Given the description of an element on the screen output the (x, y) to click on. 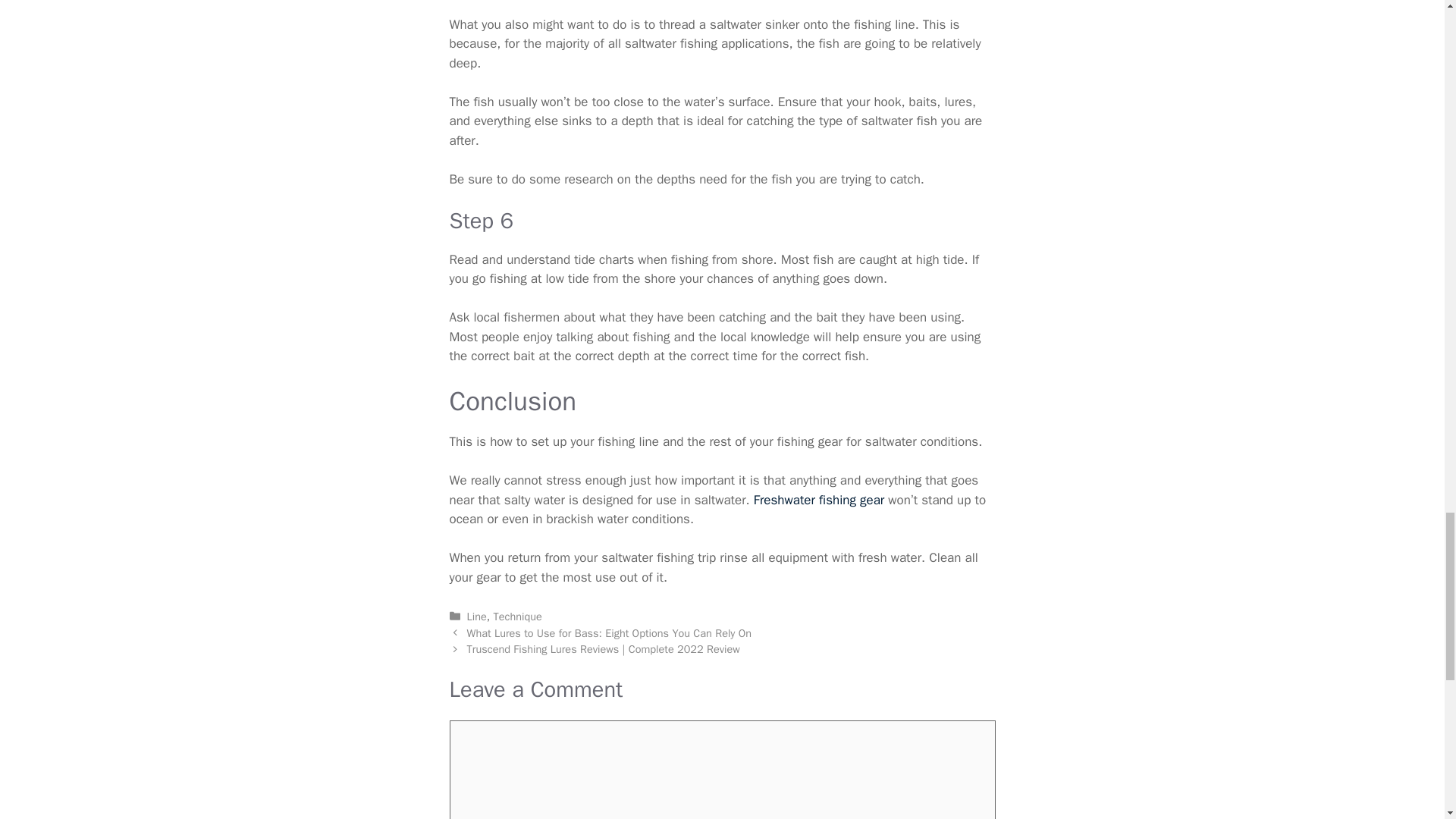
What Lures to Use for Bass: Eight Options You Can Rely On (609, 632)
Technique (517, 616)
Line (476, 616)
Freshwater fishing gear (818, 499)
